Given the description of an element on the screen output the (x, y) to click on. 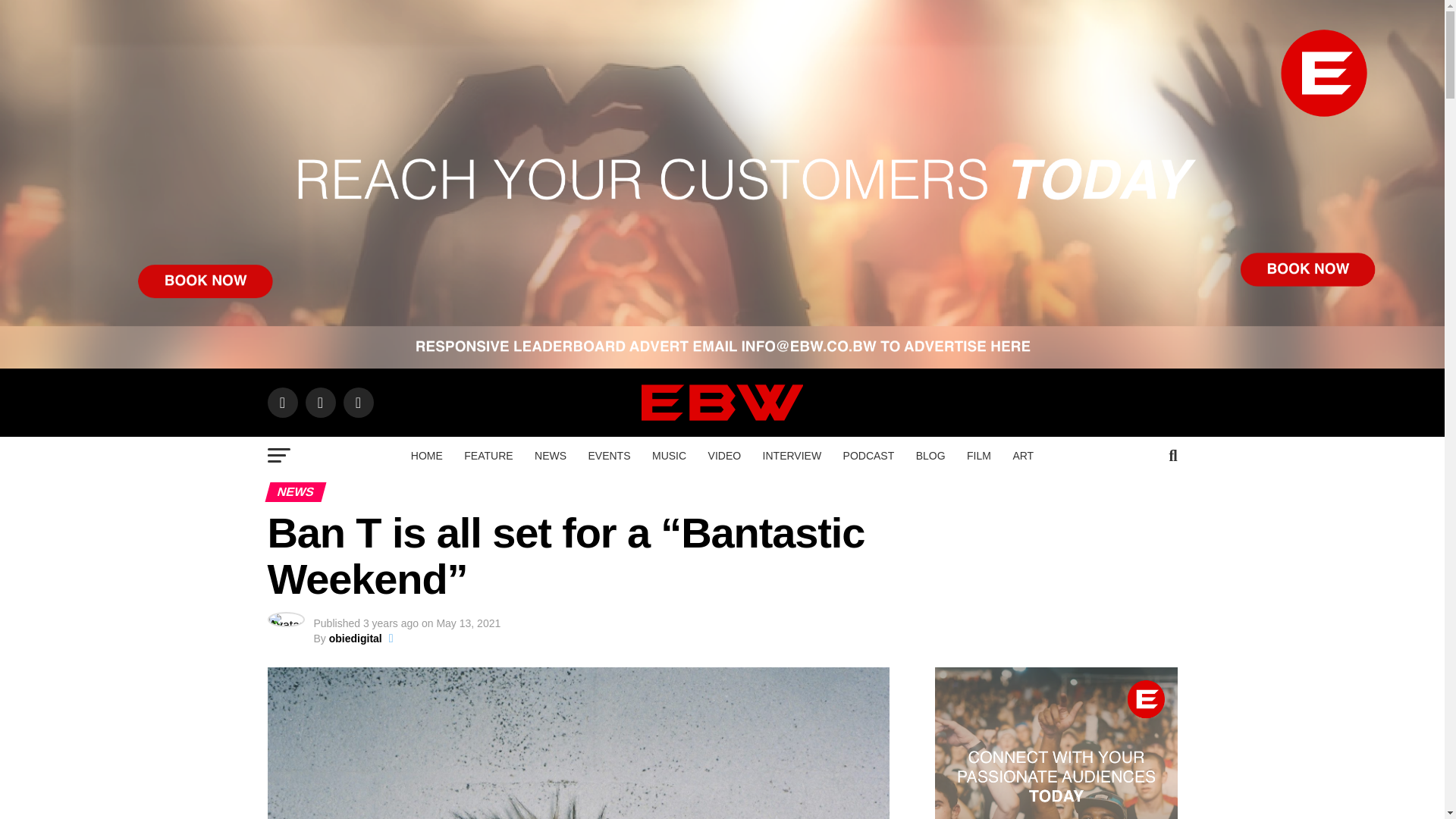
HOME (426, 455)
FEATURE (487, 455)
Posts by obiedigital (355, 638)
NEWS (550, 455)
EVENTS (609, 455)
